Given the description of an element on the screen output the (x, y) to click on. 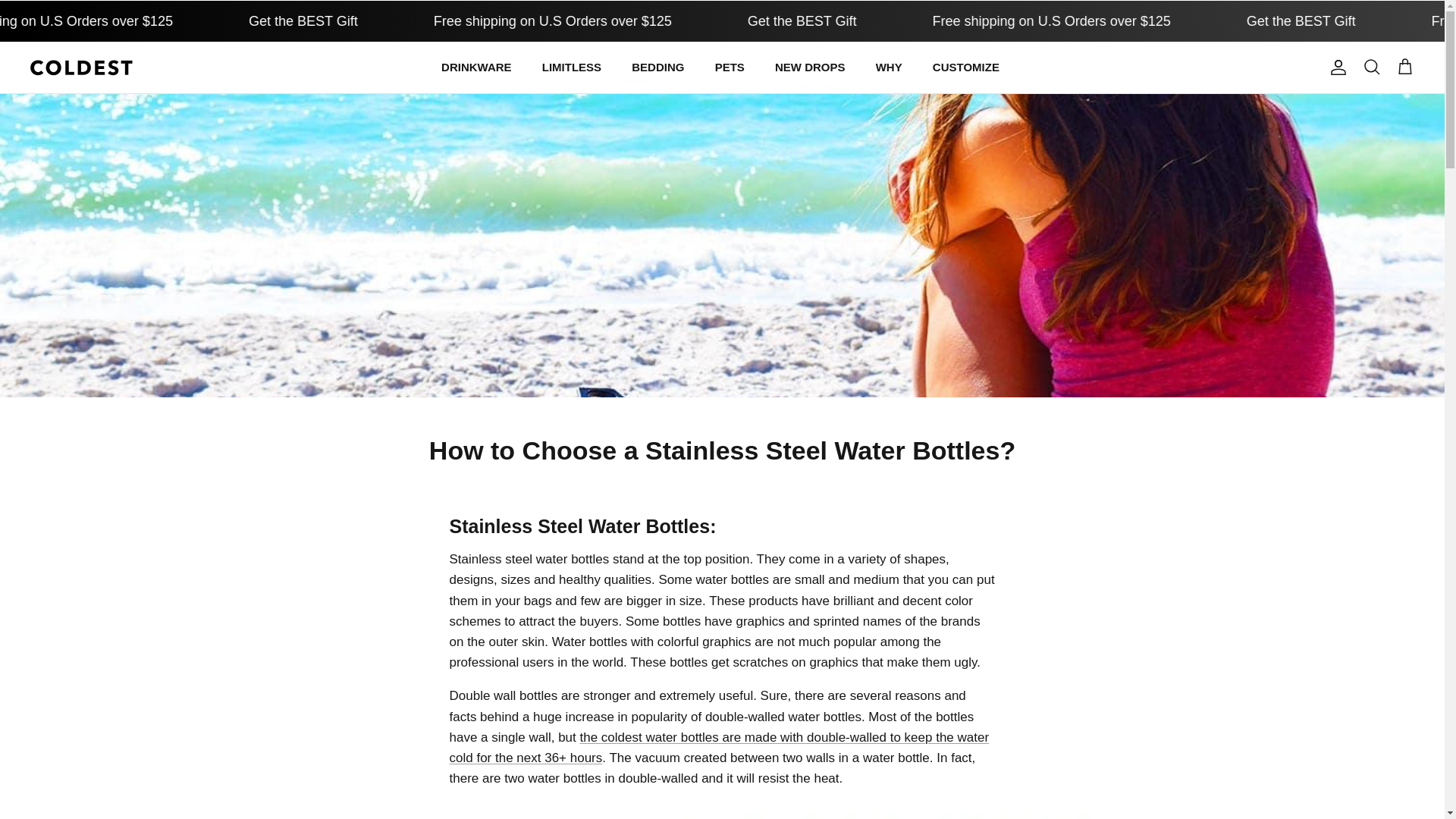
PETS (729, 67)
DRINKWARE (476, 67)
Coldest (81, 67)
WHY (888, 67)
NEW DROPS (810, 67)
CUSTOMIZE (965, 67)
Account (1335, 67)
Search (1371, 66)
Cart (1404, 66)
LIMITLESS (571, 67)
BEDDING (657, 67)
